Given the description of an element on the screen output the (x, y) to click on. 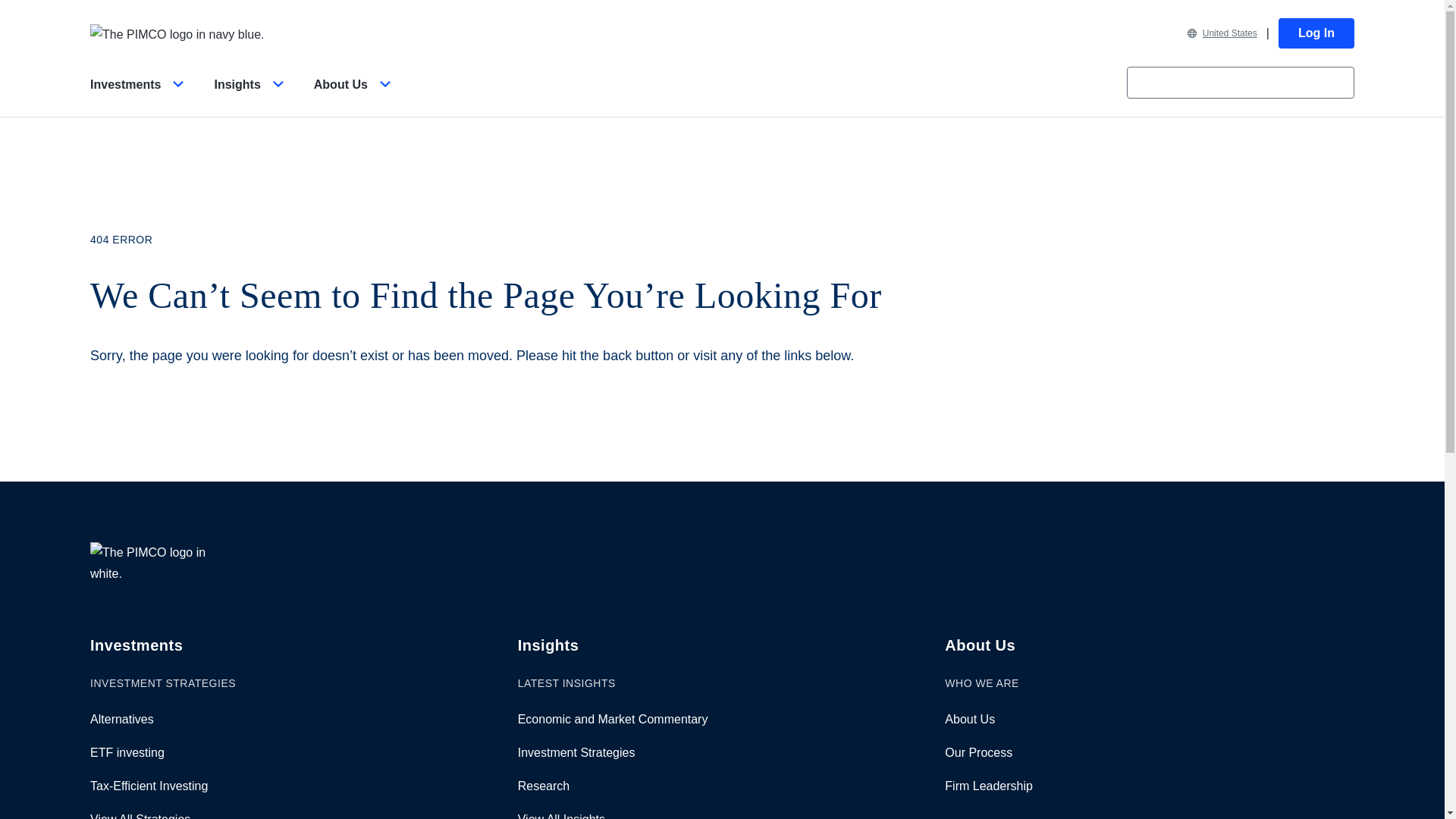
About Us (355, 96)
Insights (251, 96)
Investments (139, 96)
Log In (1316, 33)
United States (1222, 32)
PIMCO Home (176, 33)
